Given the description of an element on the screen output the (x, y) to click on. 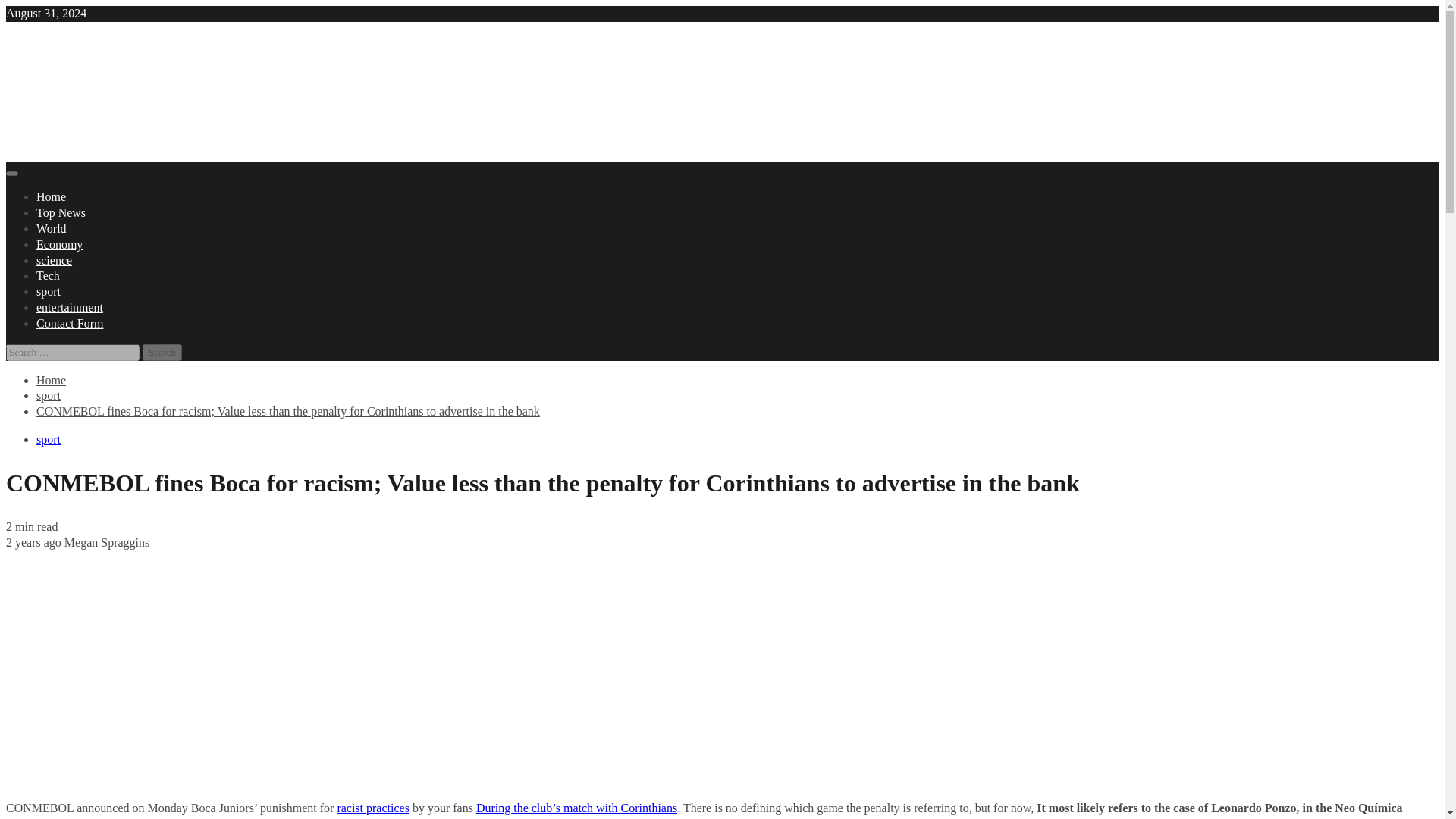
Megan Spraggins (106, 542)
World (51, 228)
sport (48, 439)
Search (162, 352)
Contact Form (69, 323)
racist practices (372, 807)
sport (48, 395)
Search (162, 352)
